Given the description of an element on the screen output the (x, y) to click on. 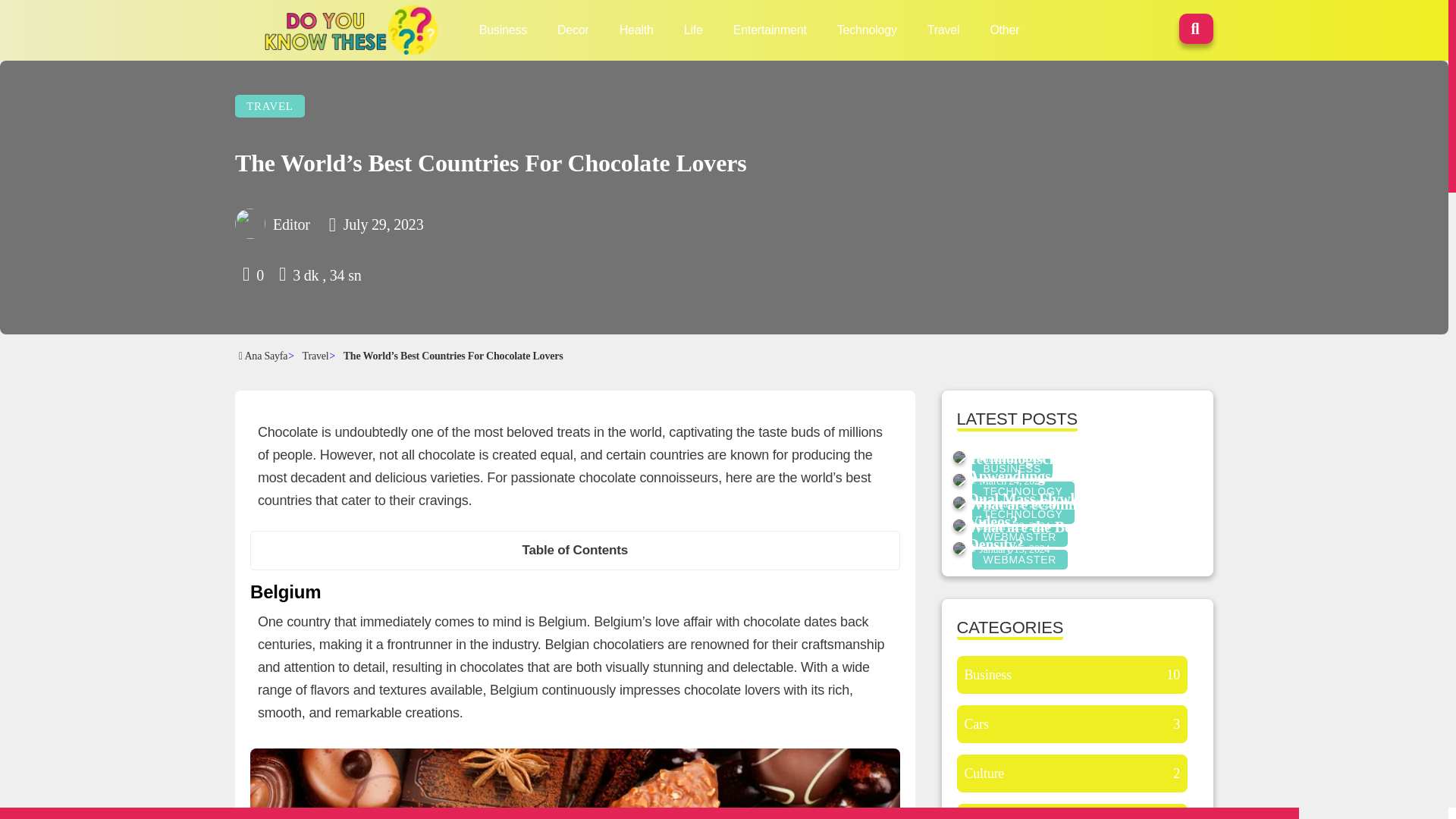
Business (503, 29)
Travel (943, 29)
Decor (573, 29)
Life (693, 29)
Health (636, 29)
Technology (866, 29)
TRAVEL (269, 106)
Other (1004, 29)
Entertainment (769, 29)
